Given the description of an element on the screen output the (x, y) to click on. 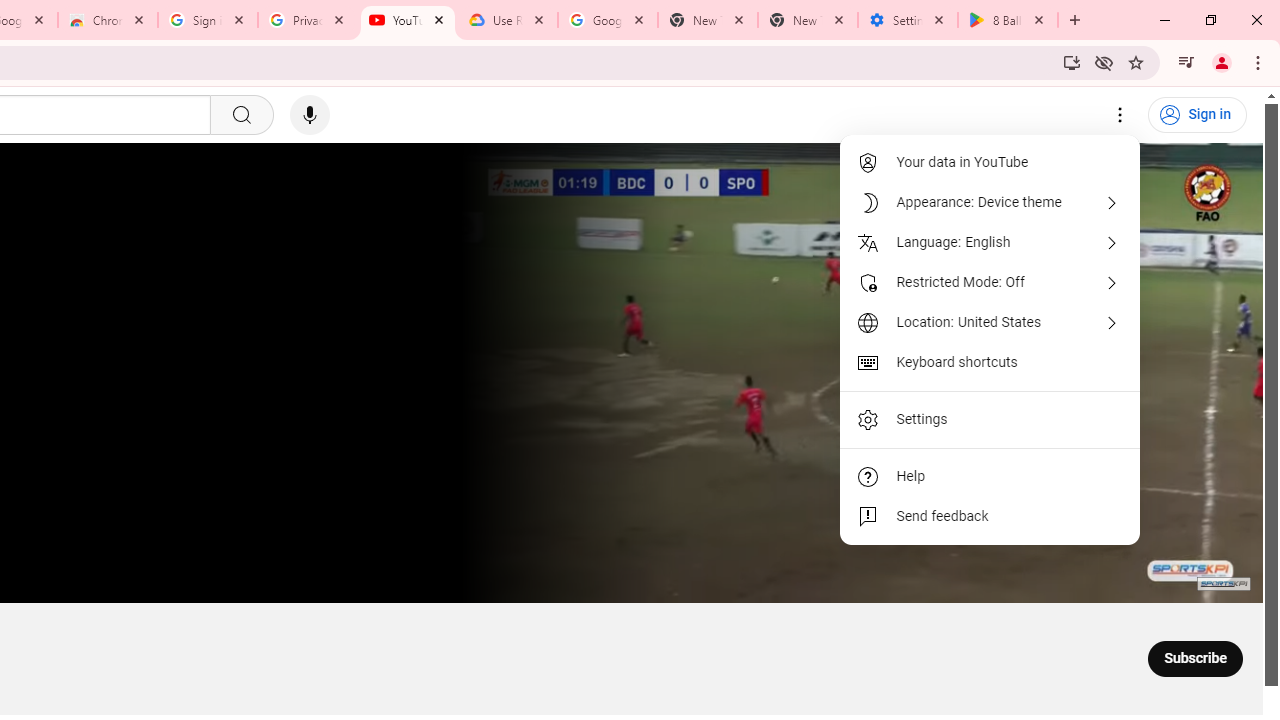
Settings - System (907, 20)
8 Ball Pool - Apps on Google Play (1007, 20)
Sign in - Google Accounts (207, 20)
Help (989, 476)
Language: English (989, 242)
New Tab (807, 20)
Subscribe to Sports. (1195, 658)
Install YouTube (1071, 62)
Your data in YouTube (989, 162)
Keyboard shortcuts (989, 362)
